Given the description of an element on the screen output the (x, y) to click on. 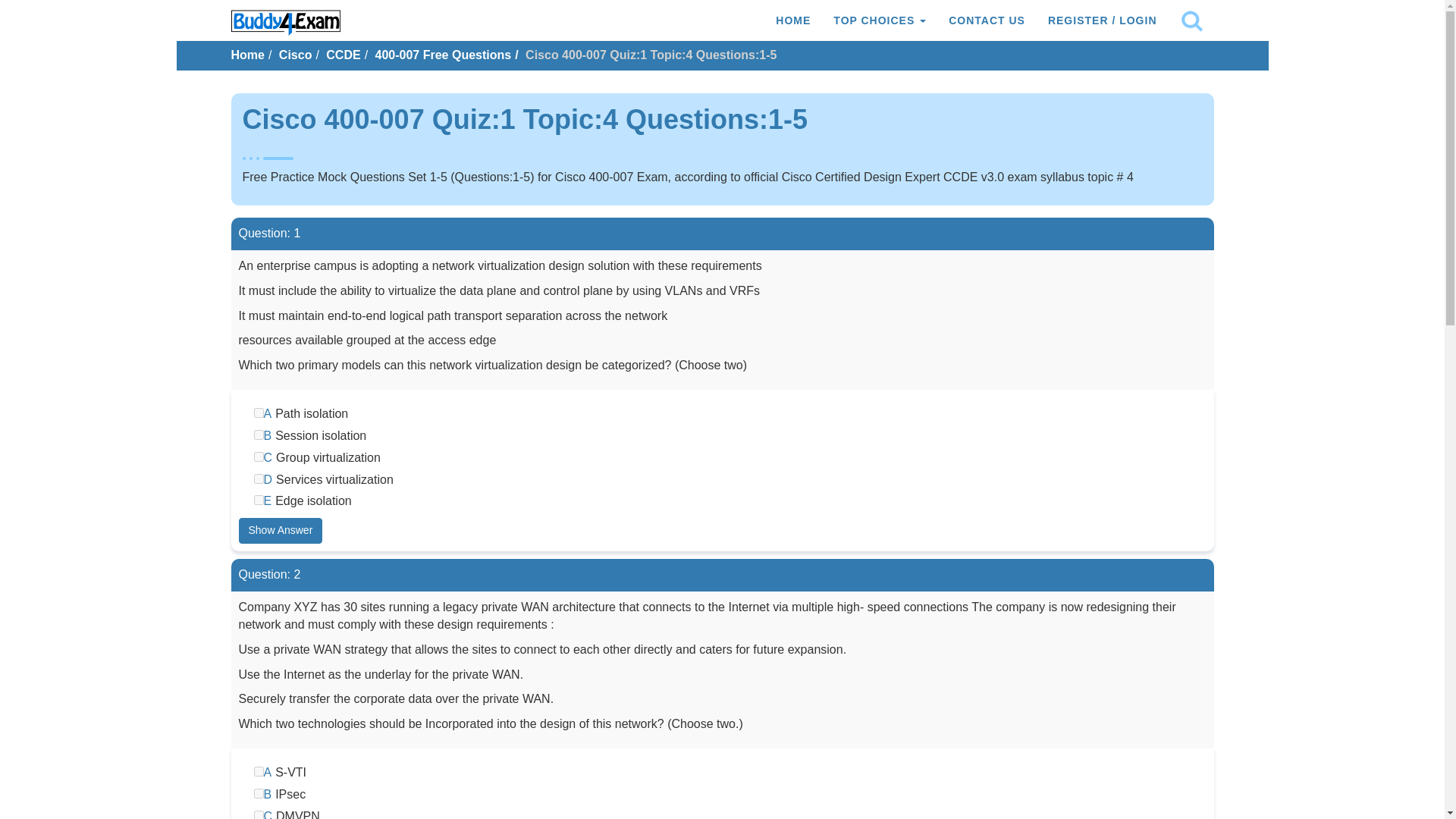
E (258, 500)
C (258, 814)
C (258, 456)
400-007 Free Questions (443, 54)
HOME (793, 20)
CONTACT US (986, 20)
Cisco (296, 54)
B (258, 793)
A (258, 412)
TOP CHOICES (879, 20)
